Given the description of an element on the screen output the (x, y) to click on. 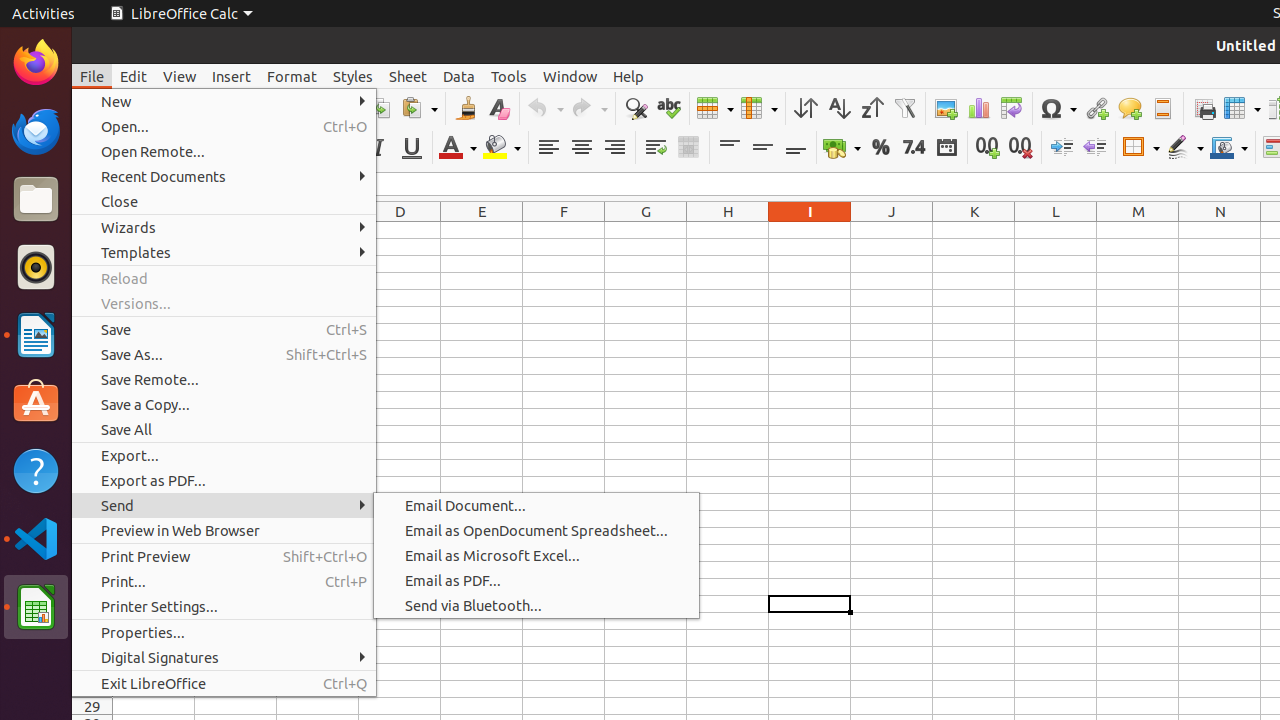
Border Style Element type: push-button (1185, 147)
Save As... Element type: menu-item (224, 354)
Paste Element type: push-button (419, 108)
Align Left Element type: push-button (548, 147)
